Given the description of an element on the screen output the (x, y) to click on. 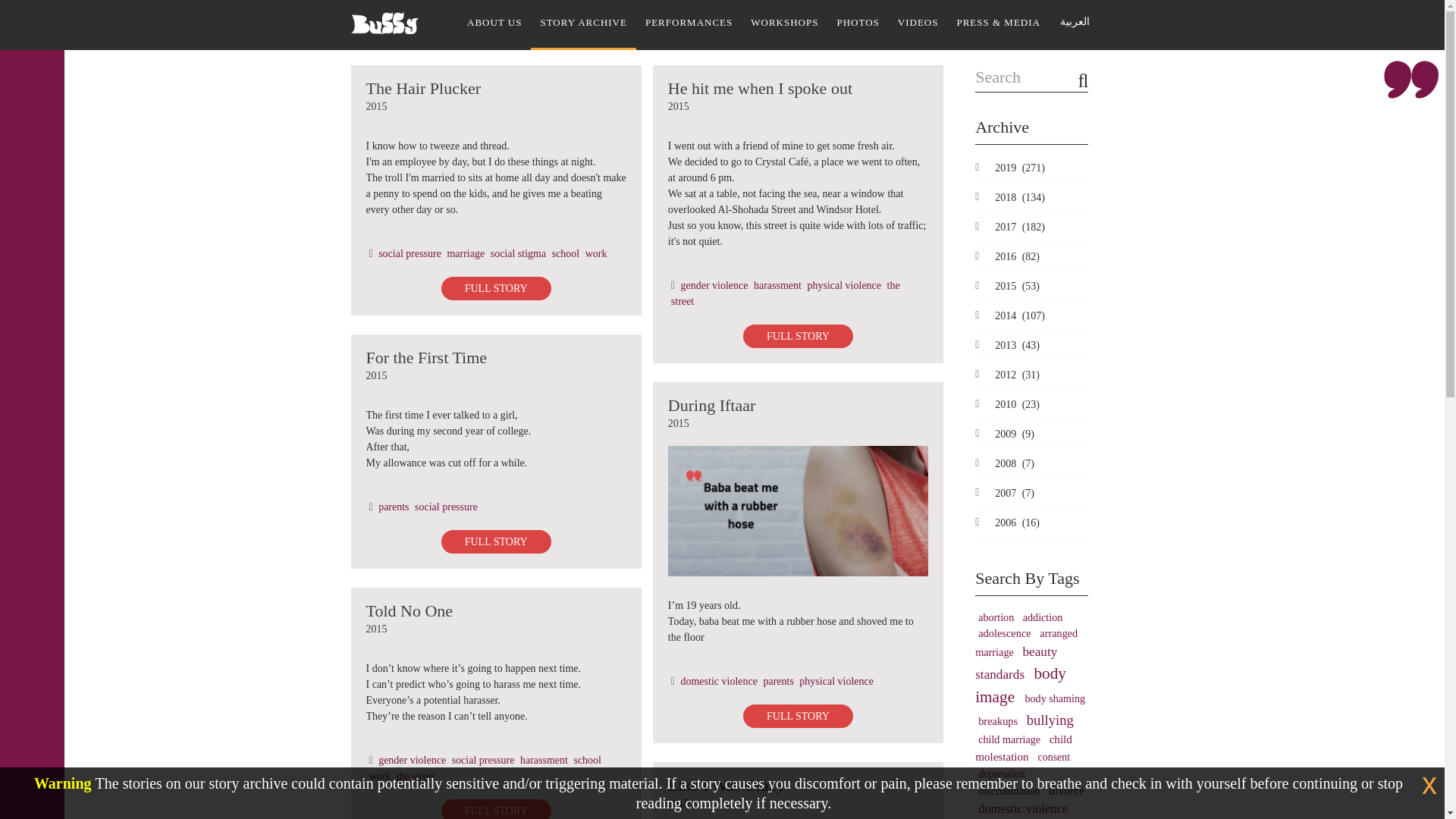
marriage (465, 253)
social pressure (483, 759)
14 items tagged with breakups (999, 720)
BuSSy (383, 17)
The Hair Plucker (422, 87)
115 items tagged with beauty standards (1016, 662)
5 items tagged with body shaming (1054, 698)
261 items tagged with body image (1020, 685)
social pressure (409, 253)
During Iftaar (798, 510)
